Given the description of an element on the screen output the (x, y) to click on. 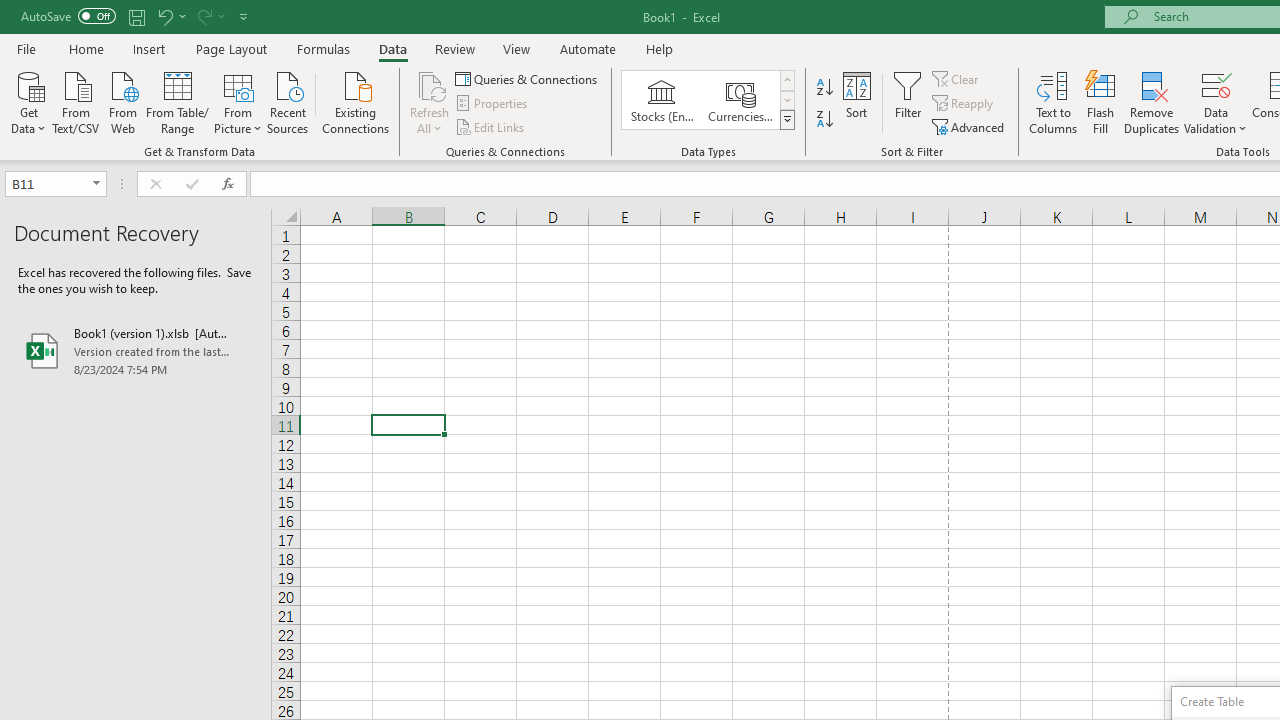
Existing Connections (355, 101)
Reapply (964, 103)
AutomationID: ConvertToLinkedEntity (708, 99)
Text to Columns... (1053, 102)
Flash Fill (1101, 102)
Advanced... (970, 126)
